Given the description of an element on the screen output the (x, y) to click on. 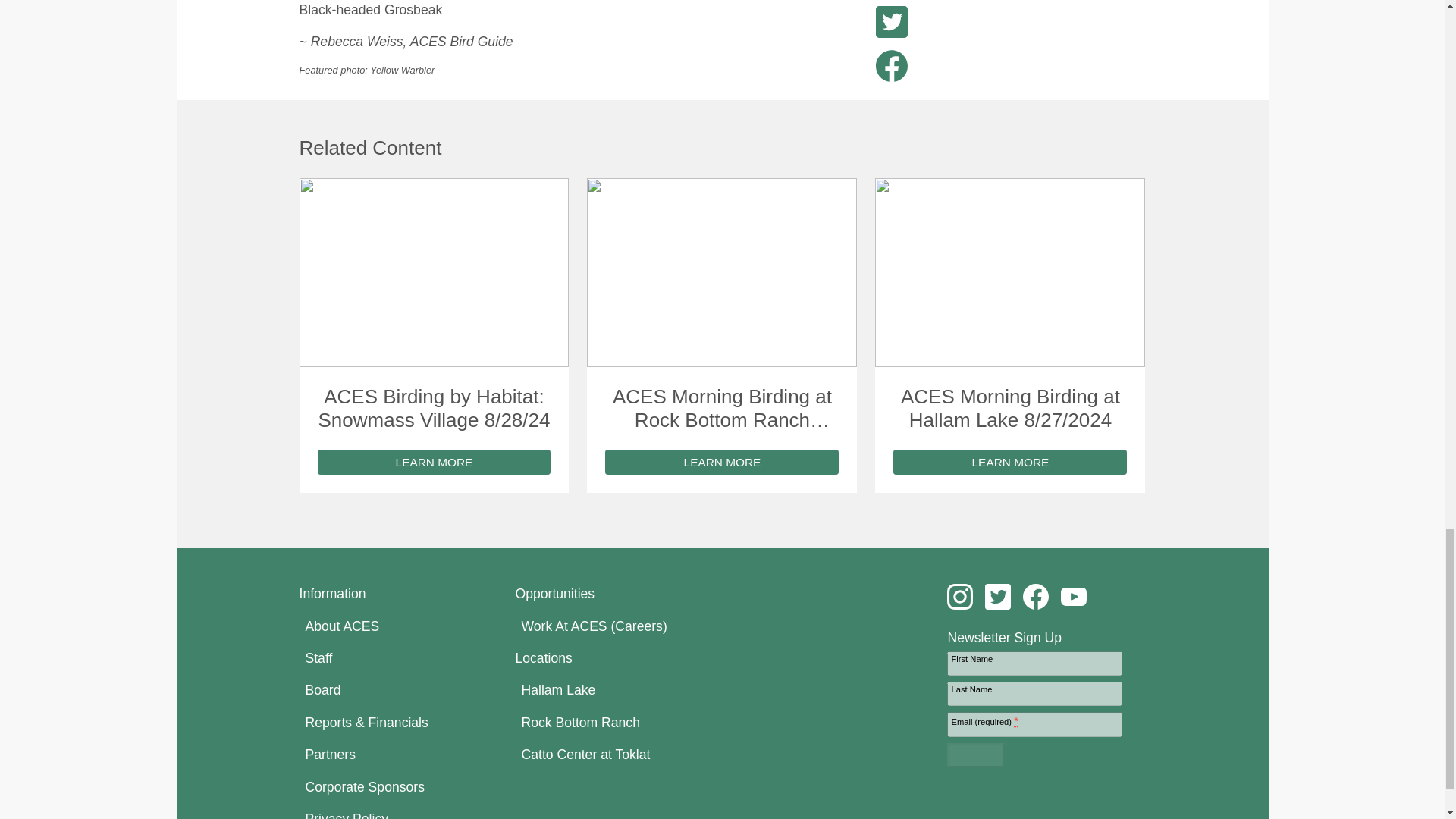
Sign up (975, 754)
turkey vulture (721, 272)
Screen Shot 2023-08-03 at 2.28.20 PM (433, 272)
